Given the description of an element on the screen output the (x, y) to click on. 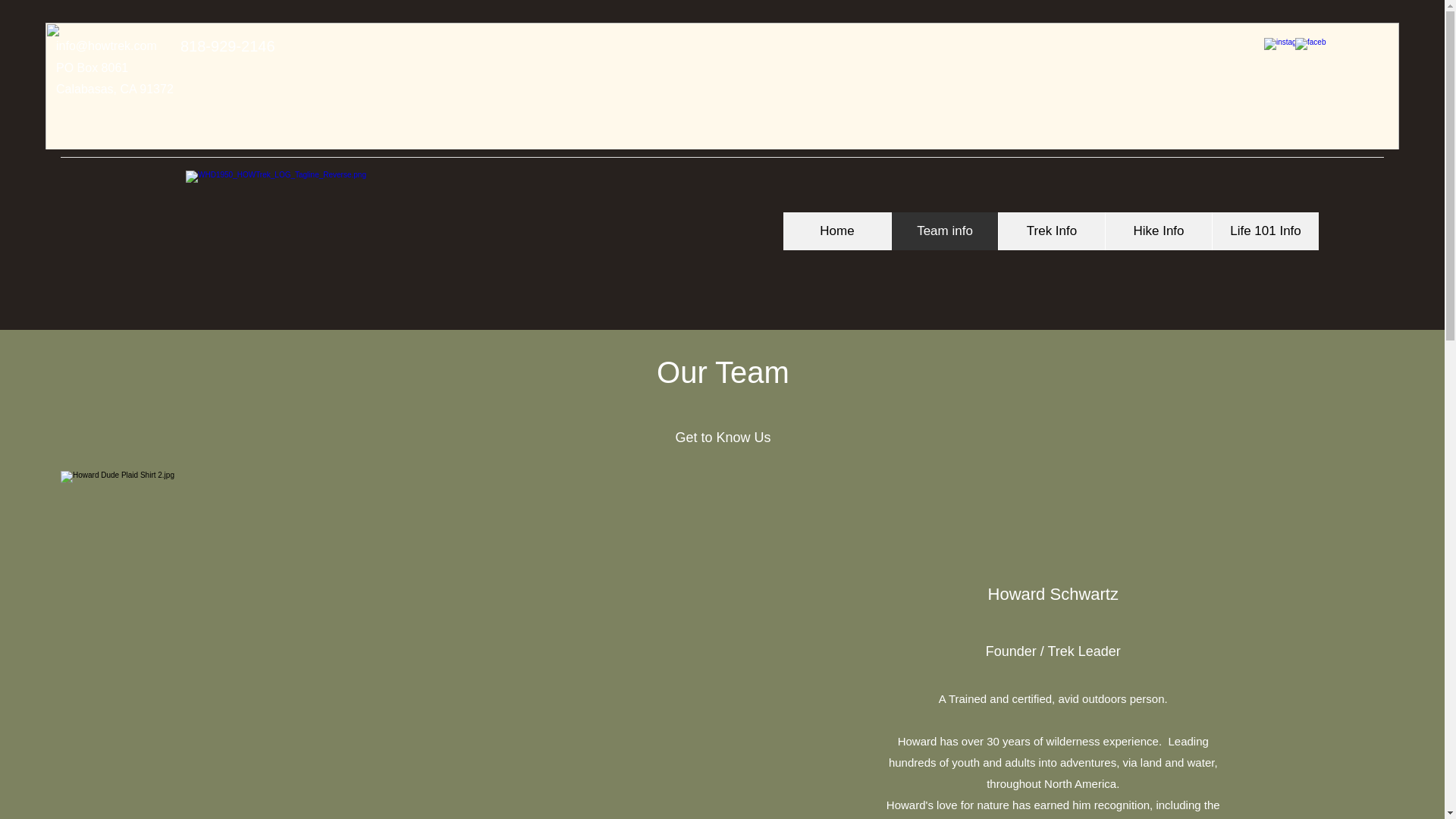
Home (837, 231)
Trek Info (1051, 231)
Life 101 Info (1265, 231)
Hike Info (1158, 231)
Team info (944, 231)
